Given the description of an element on the screen output the (x, y) to click on. 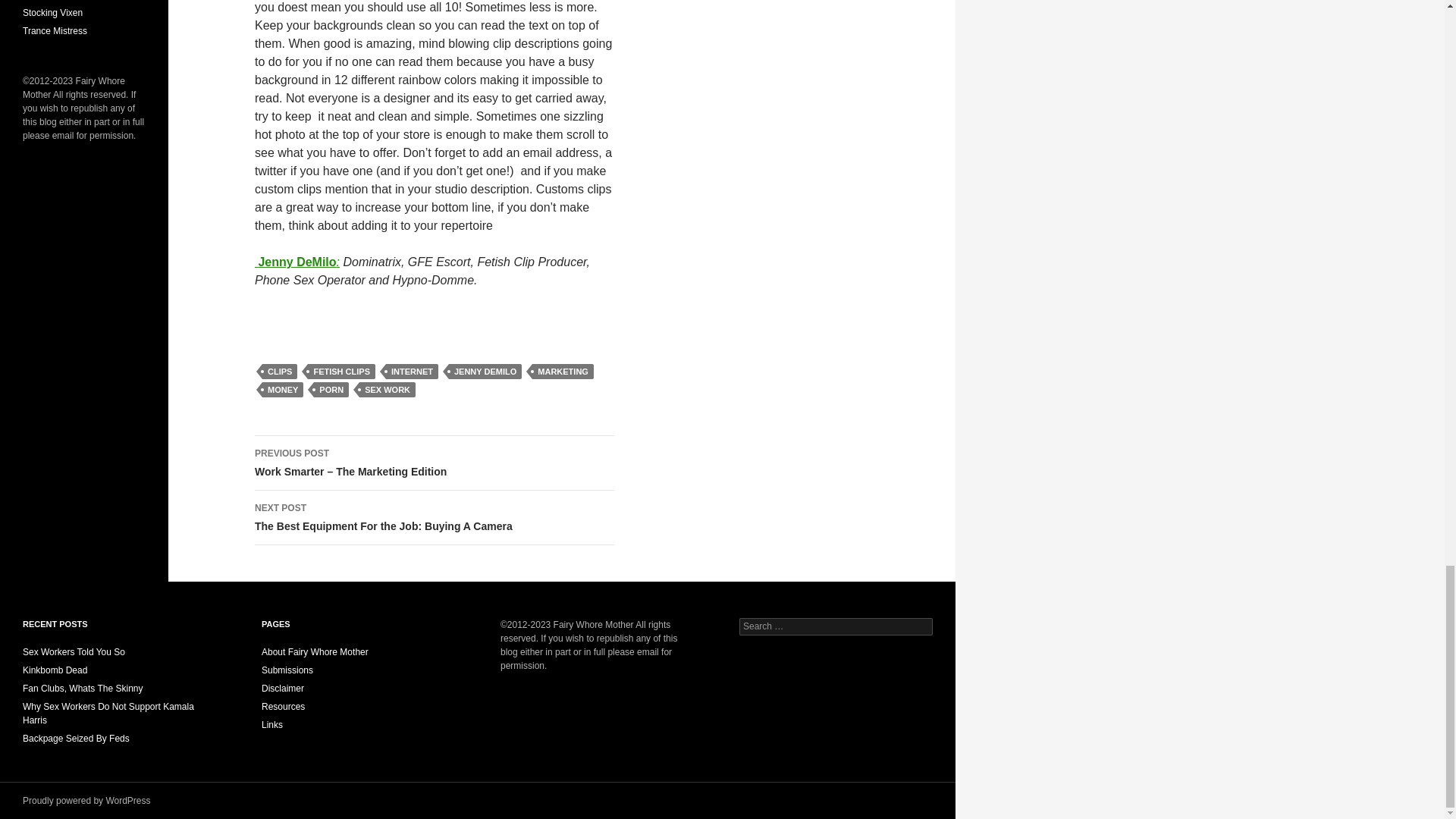
SEX WORK (386, 389)
PORN (434, 517)
CLIPS (331, 389)
MONEY (279, 371)
MARKETING (282, 389)
 Jenny DeMilo (563, 371)
INTERNET (295, 261)
JENNY DEMILO (411, 371)
FETISH CLIPS (484, 371)
